Given the description of an element on the screen output the (x, y) to click on. 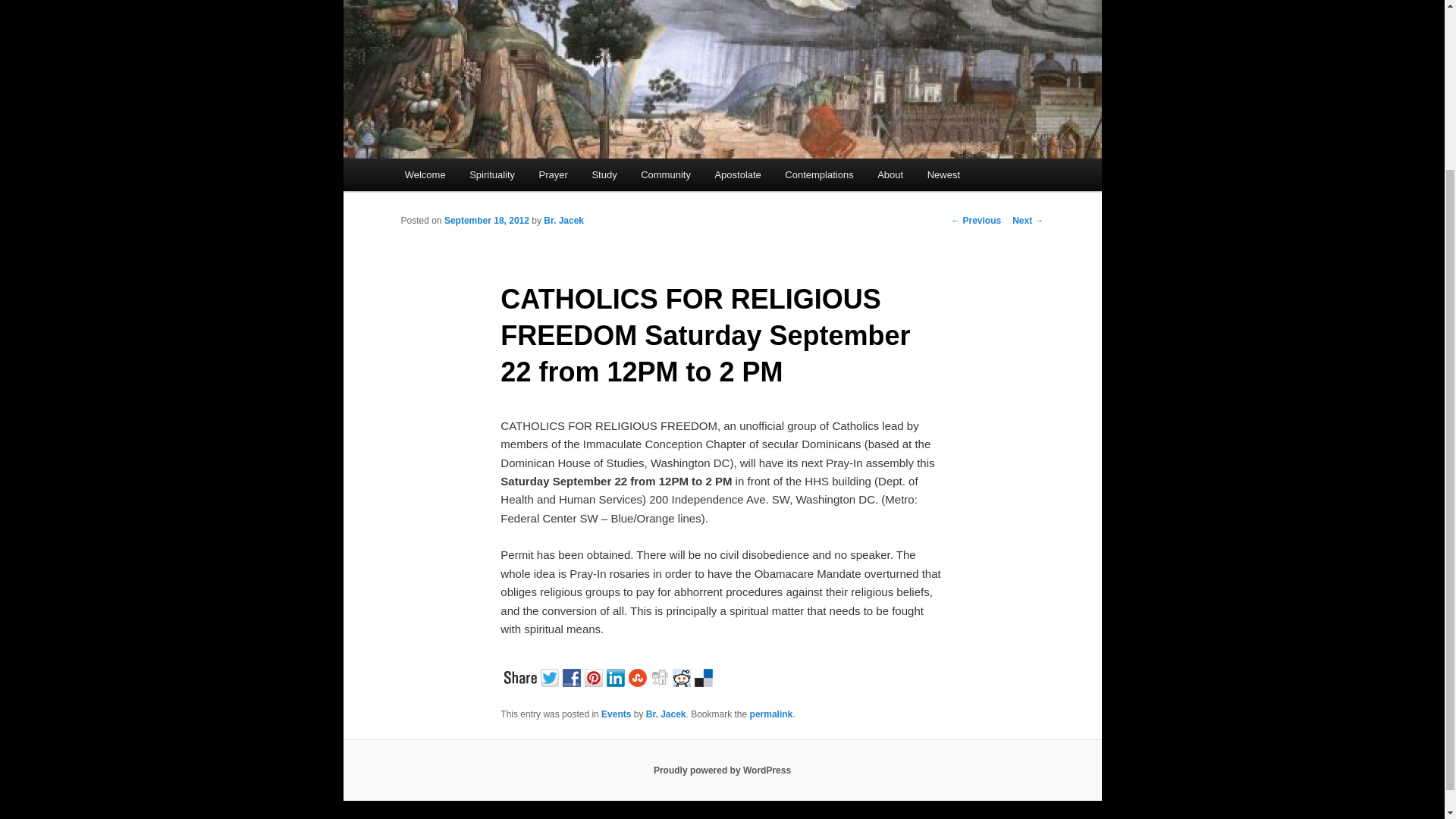
Community (664, 174)
Spirituality (491, 174)
Linkedin (617, 676)
Study (603, 174)
Digg (661, 676)
Reddit (683, 676)
Semantic Personal Publishing Platform (721, 769)
Delicious (705, 676)
Welcome (425, 174)
Twitter (551, 676)
Pinterest (596, 676)
View all posts by Br. Jacek (563, 220)
StumbleUpon (639, 676)
Facebook (573, 676)
